Given the description of an element on the screen output the (x, y) to click on. 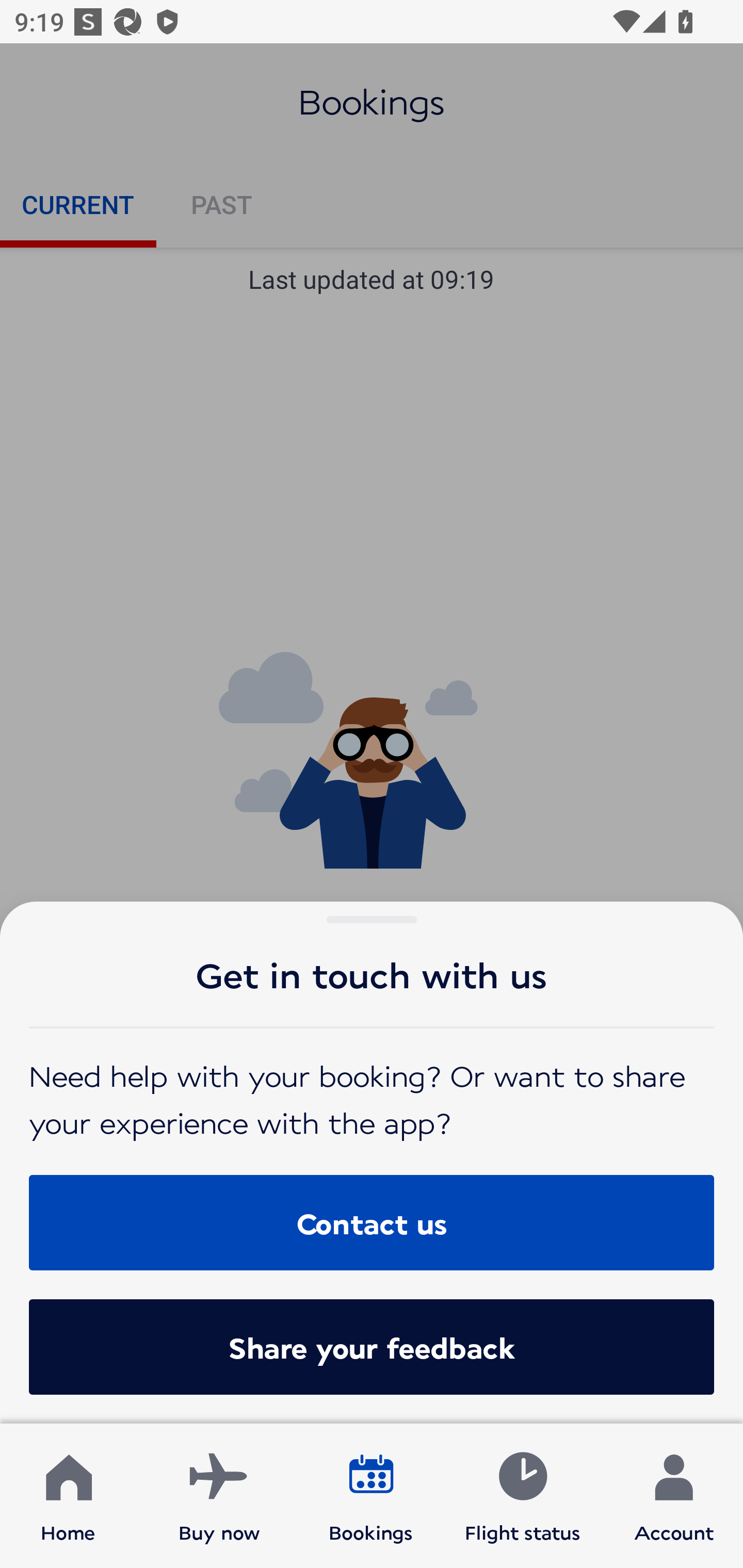
Contact us (371, 1222)
Share your feedback (371, 1346)
Home (68, 1495)
Buy now (219, 1495)
Flight status (522, 1495)
Account (674, 1495)
